Given the description of an element on the screen output the (x, y) to click on. 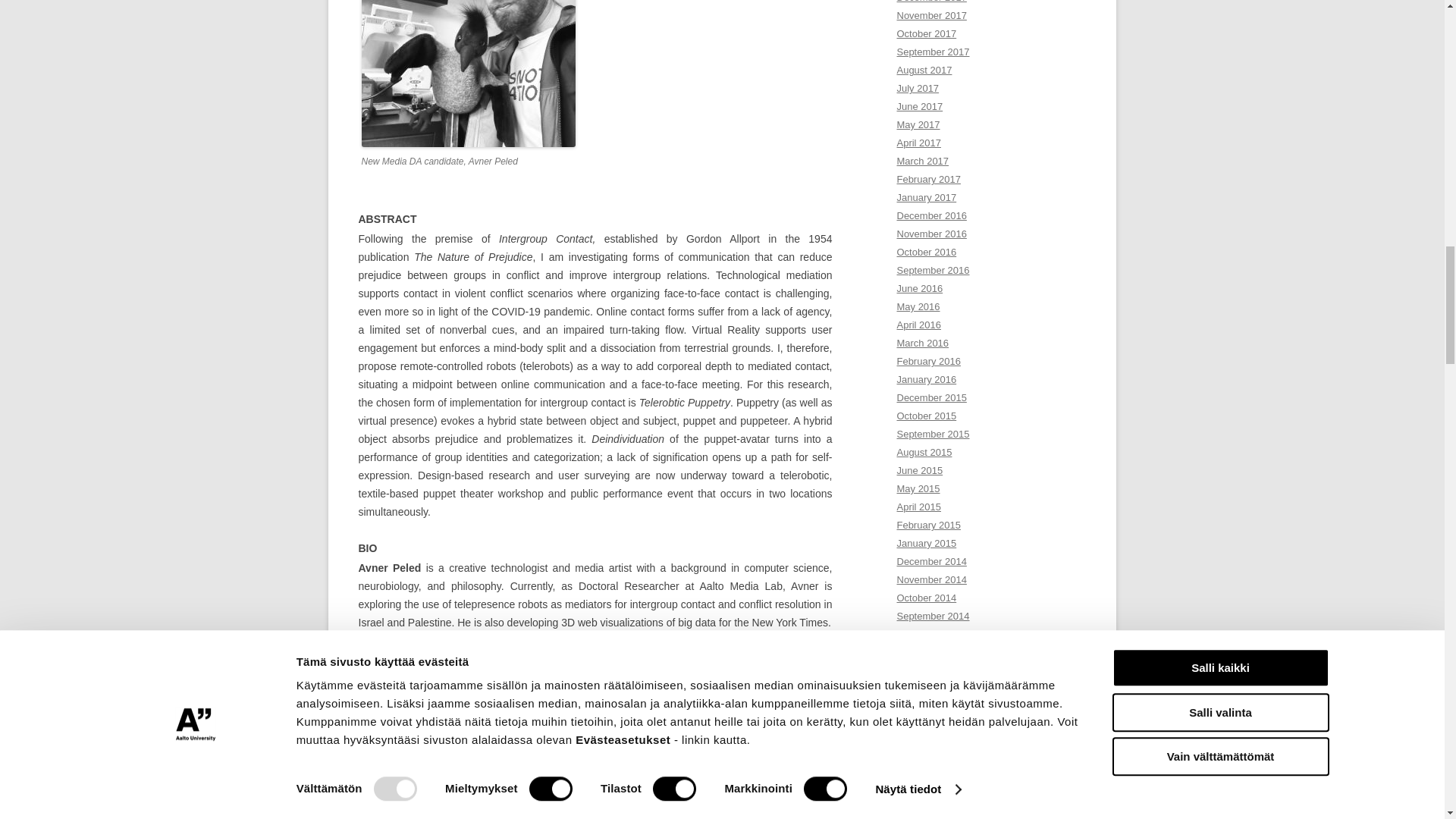
View all posts by Philippe La Grassa (477, 767)
19:41 (389, 767)
